Given the description of an element on the screen output the (x, y) to click on. 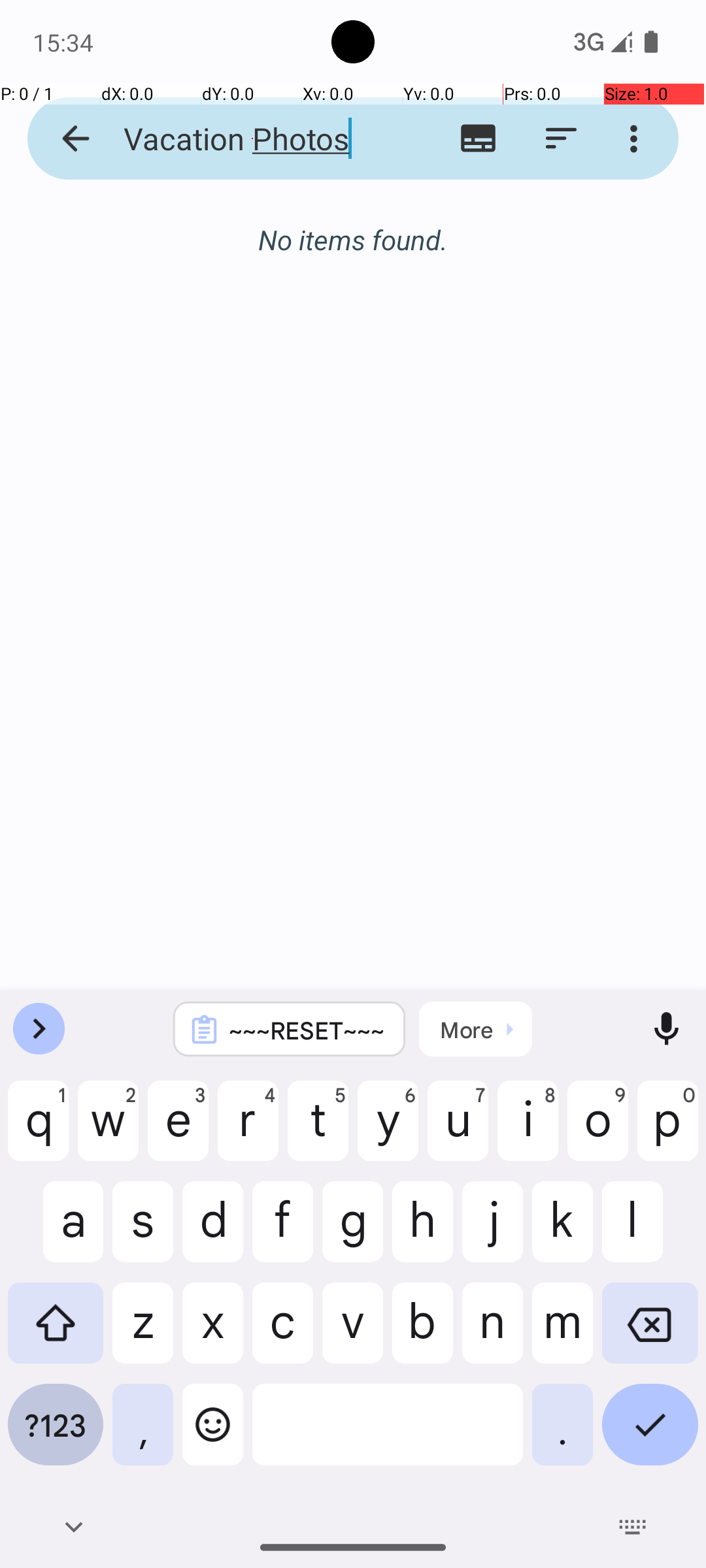
No items found. Element type: android.widget.TextView (353, 225)
Vacation Photos Element type: android.widget.EditText (252, 138)
Toggle filename visibility Element type: android.widget.Button (477, 138)
~~~RESET~~~ Element type: android.widget.TextView (306, 1029)
